Given the description of an element on the screen output the (x, y) to click on. 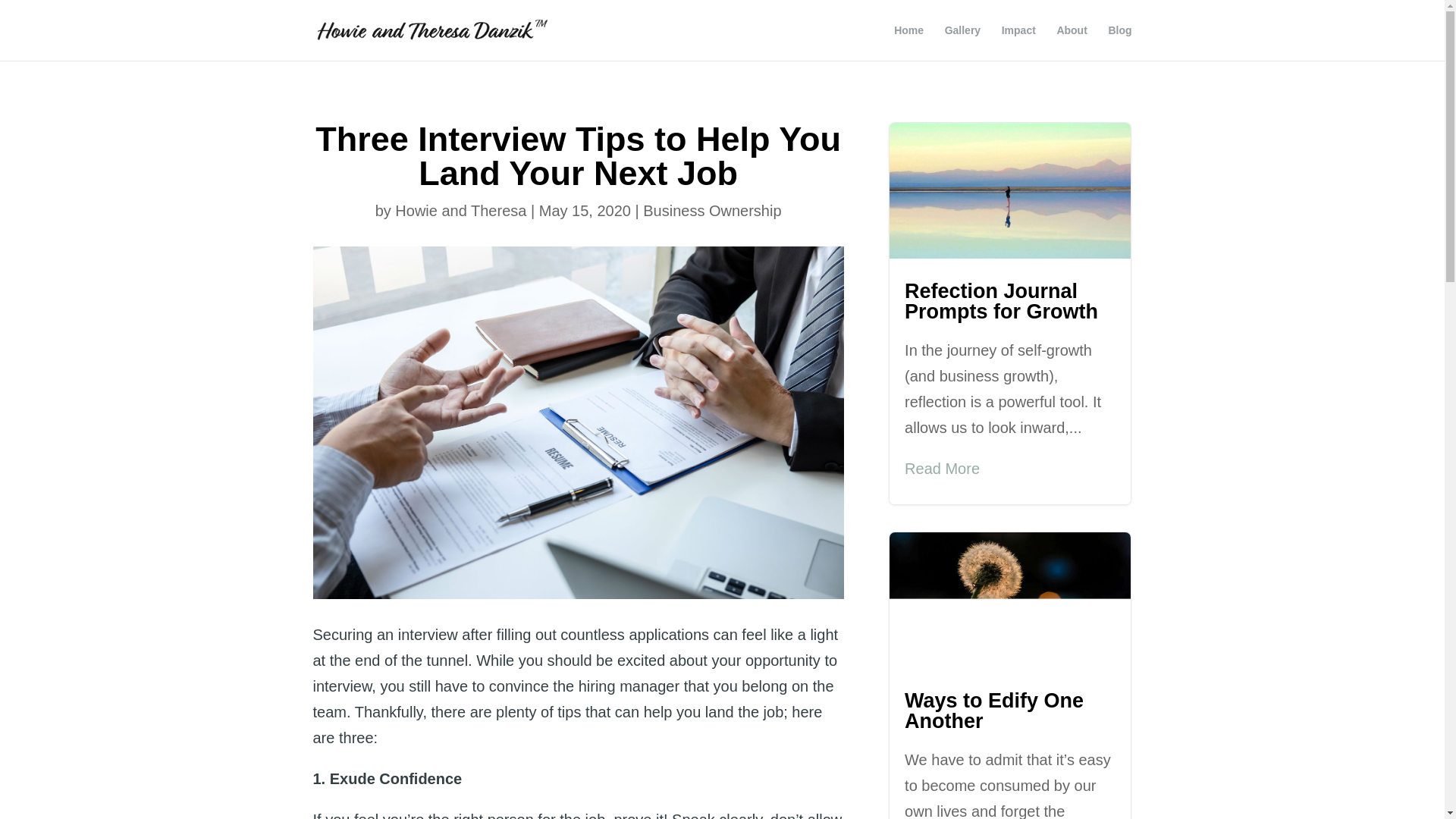
Read More (941, 468)
Refection Journal Prompts for Growth  (1003, 301)
Business Ownership (711, 210)
Impact (1018, 42)
Ways to Edify One Another  (993, 710)
Posts by Howie and Theresa (459, 210)
Howie and Theresa (459, 210)
Gallery (961, 42)
